Given the description of an element on the screen output the (x, y) to click on. 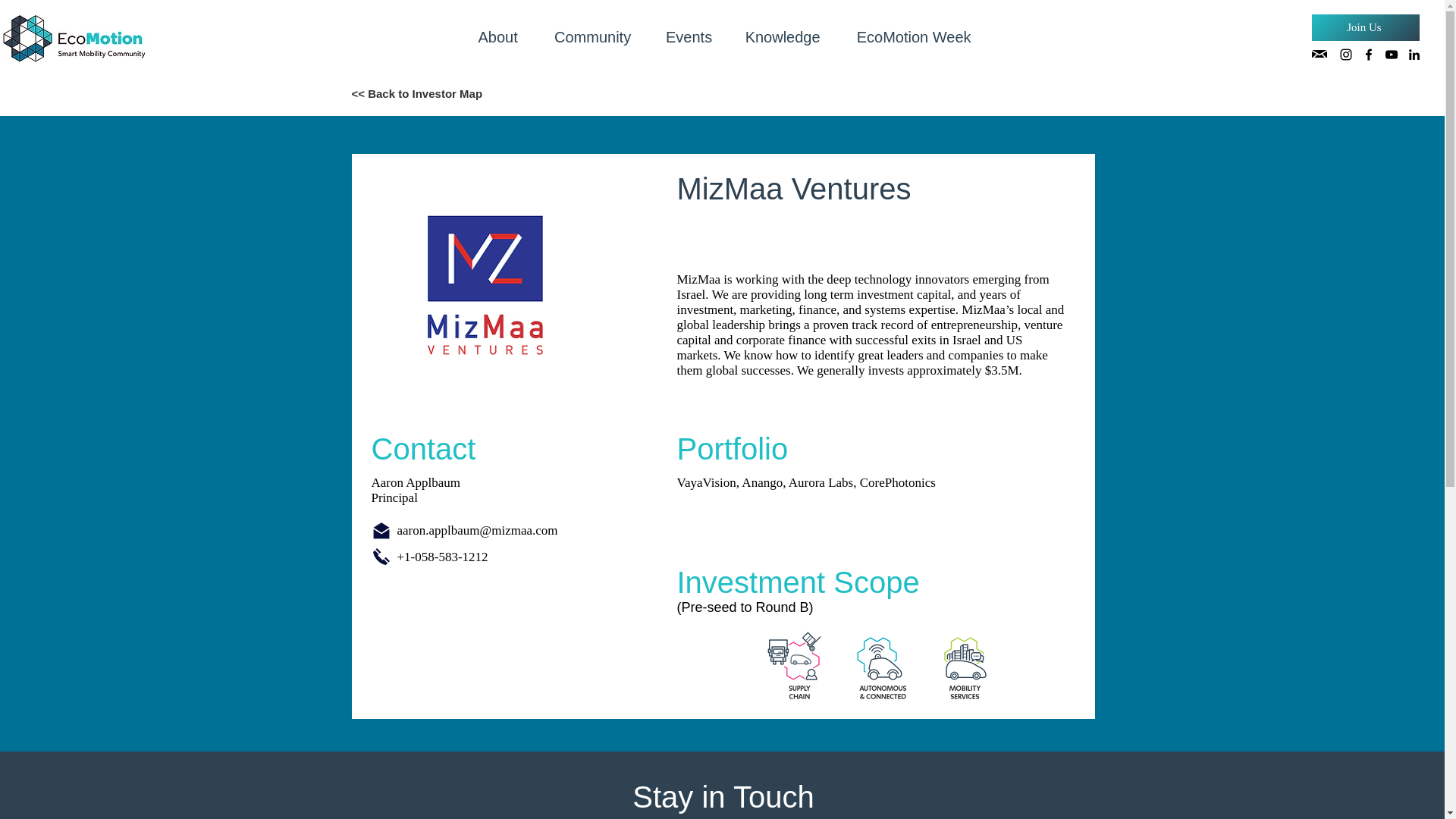
About (497, 37)
Mobility Services (964, 667)
Join Us (1365, 27)
Supply Chain (797, 667)
EcoMotion Week (914, 37)
MizMaa Ventures (484, 285)
